Given the description of an element on the screen output the (x, y) to click on. 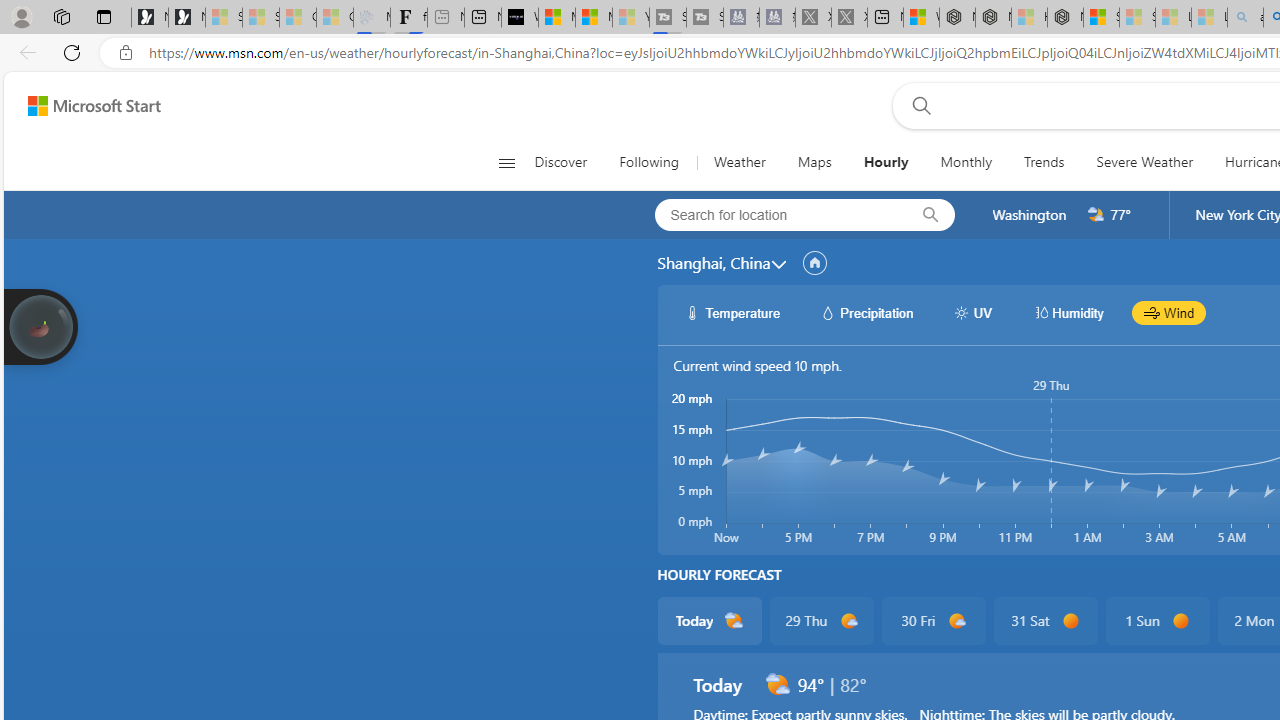
Skip to content (86, 105)
locationName/setHomeLocation (814, 263)
locationName/setHomeLocation (813, 263)
Skip to footer (82, 105)
Join us in planting real trees to help our planet! (40, 325)
d0000 (1180, 621)
Open navigation menu (506, 162)
Today d2000 (708, 620)
1 Sun d0000 (1156, 620)
common/carouselChevron (778, 264)
